Given the description of an element on the screen output the (x, y) to click on. 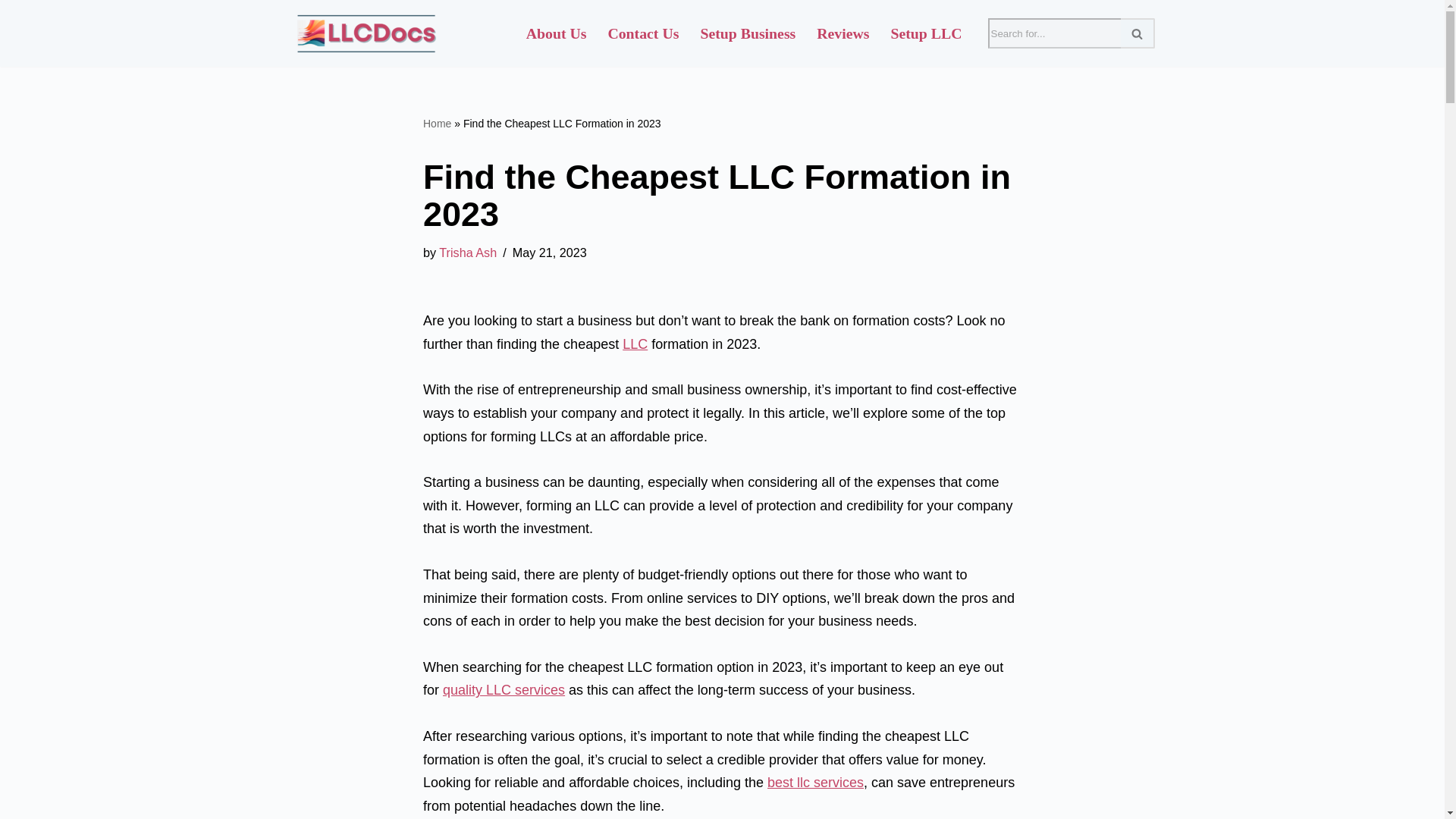
Home (437, 123)
Setup Business (747, 33)
Start an LLC in 2023: A Comprehensive Guide (635, 344)
Skip to content (11, 31)
About Us (555, 33)
LLC (635, 344)
quality LLC services (503, 689)
Trisha Ash (467, 252)
best llc services (815, 782)
LLCDocs (365, 33)
